Given the description of an element on the screen output the (x, y) to click on. 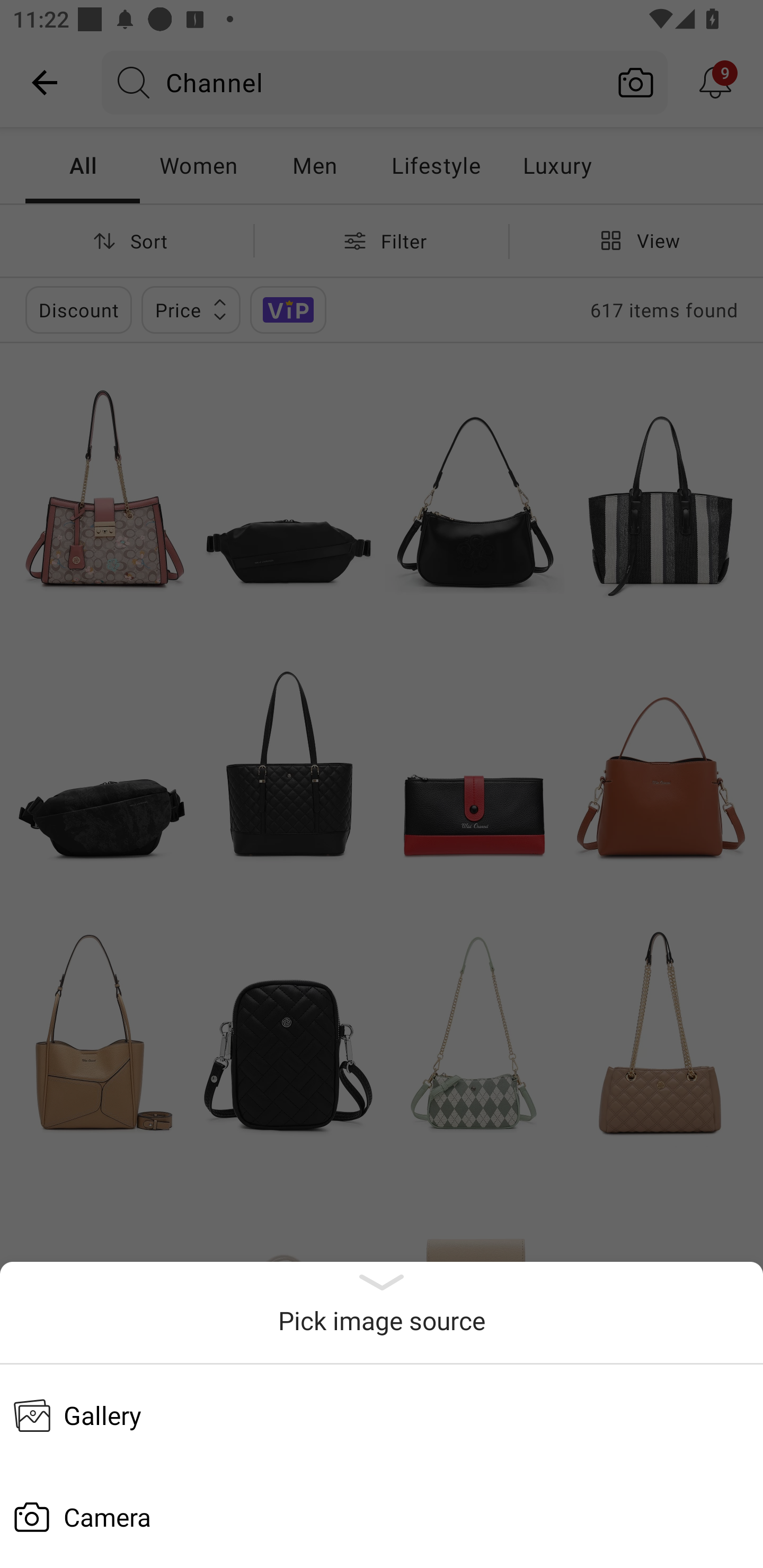
Gallery (381, 1415)
Camera (381, 1517)
